Given the description of an element on the screen output the (x, y) to click on. 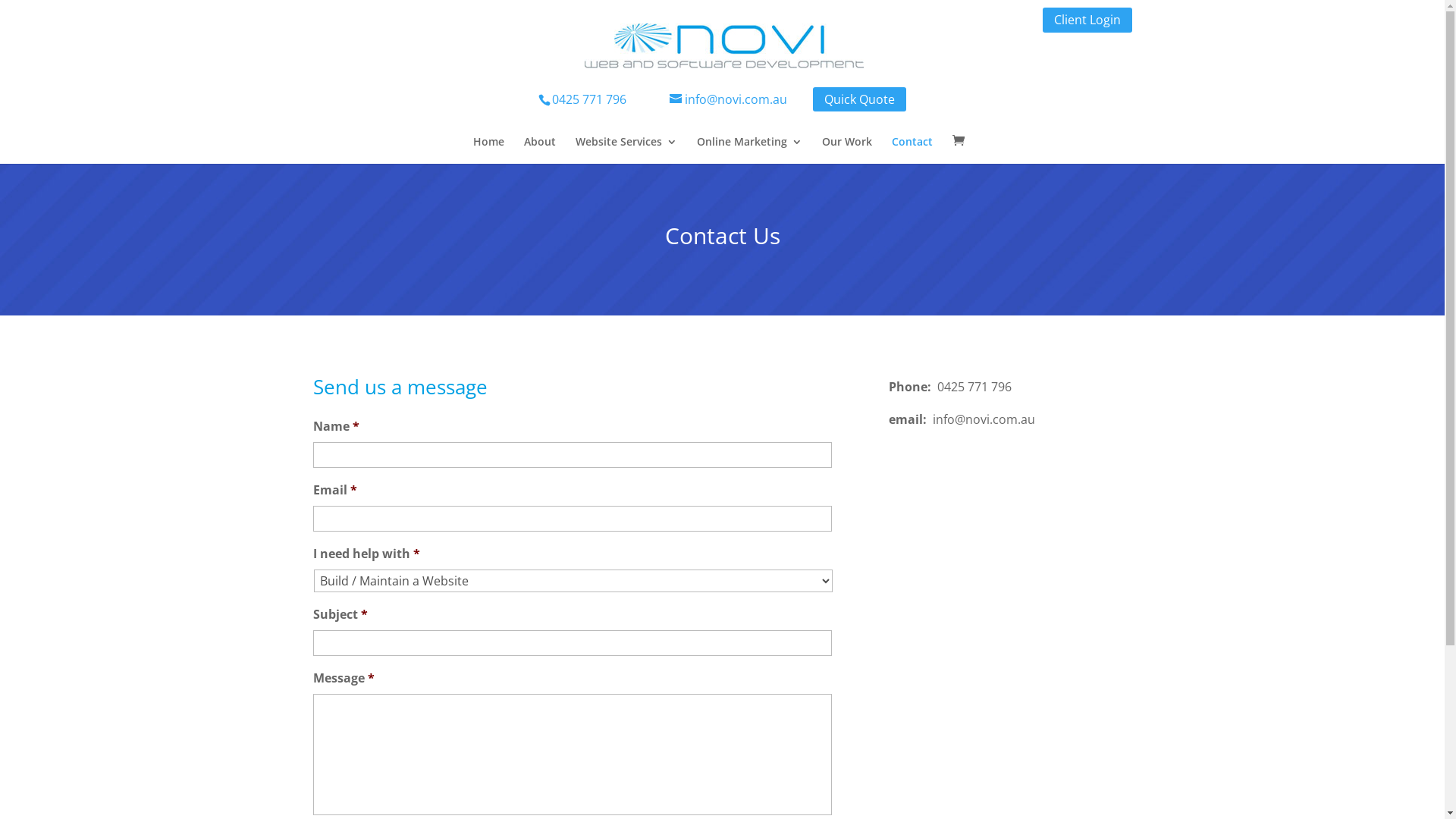
info@novi.com.au Element type: text (713, 99)
Our Work Element type: text (847, 149)
Online Marketing Element type: text (748, 149)
Website Services Element type: text (625, 149)
Client Login Element type: text (1086, 19)
Home Element type: text (488, 149)
Quick Quote Element type: text (859, 99)
Contact Element type: text (911, 149)
About Element type: text (539, 149)
